Given the description of an element on the screen output the (x, y) to click on. 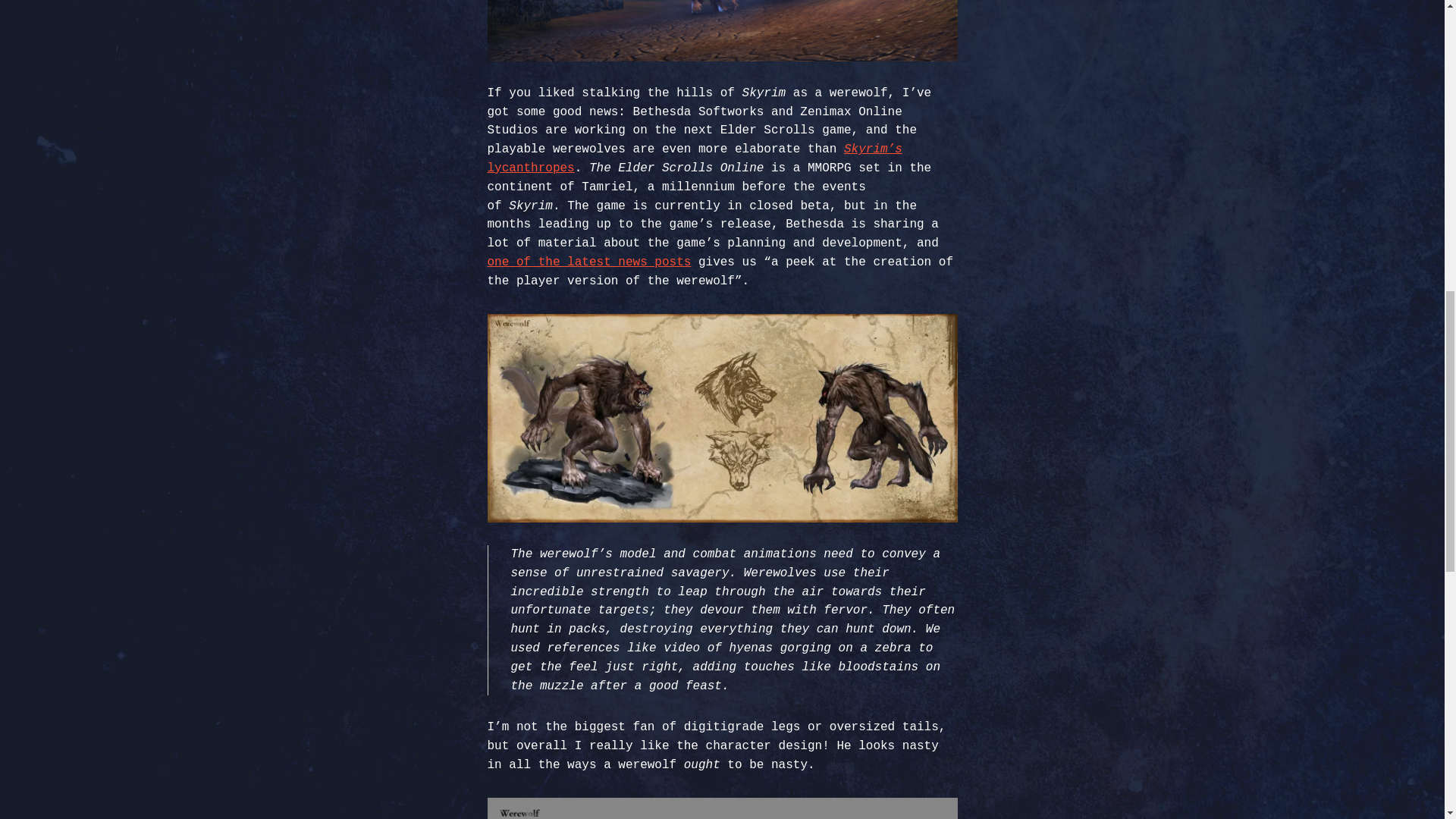
one of the latest news posts (588, 262)
